Given the description of an element on the screen output the (x, y) to click on. 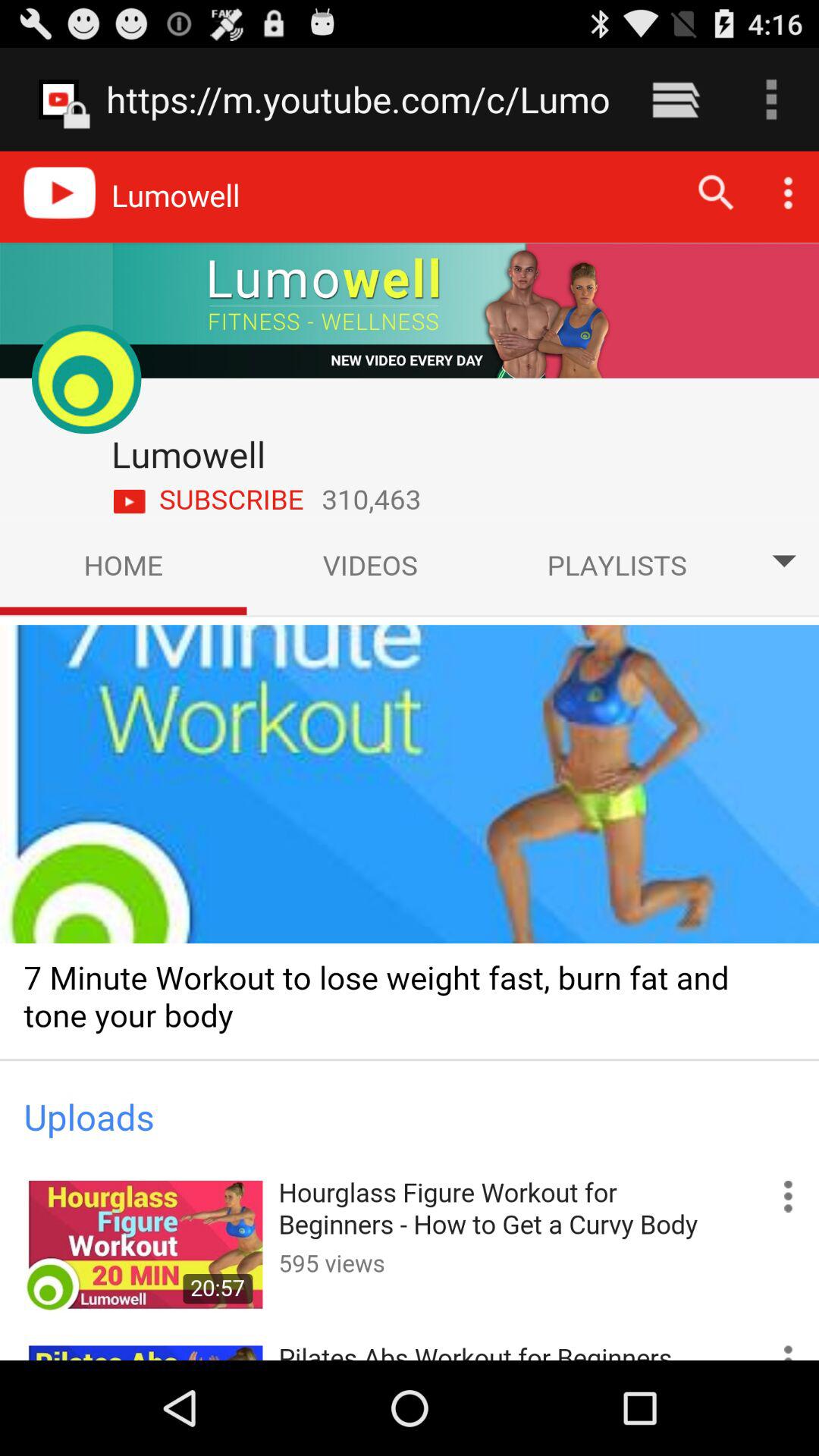
turn on the https m youtube icon (357, 99)
